Given the description of an element on the screen output the (x, y) to click on. 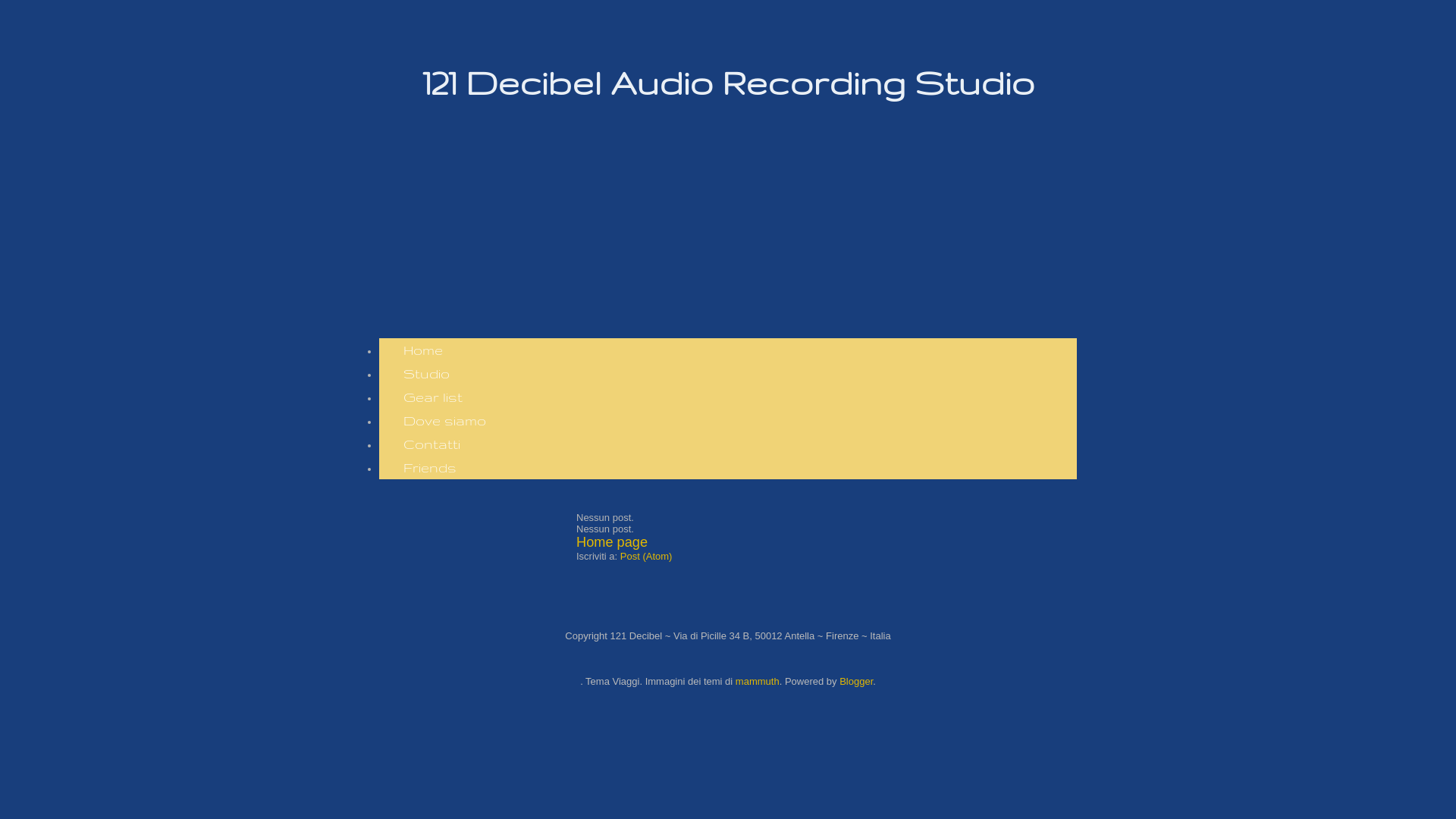
Dove siamo Element type: text (444, 420)
mammuth Element type: text (757, 681)
Studio Element type: text (426, 373)
Home page Element type: text (611, 541)
Friends Element type: text (429, 467)
Gear list Element type: text (432, 396)
Contatti Element type: text (431, 443)
Post (Atom) Element type: text (646, 555)
Blogger Element type: text (855, 681)
Home Element type: text (422, 349)
